Given the description of an element on the screen output the (x, y) to click on. 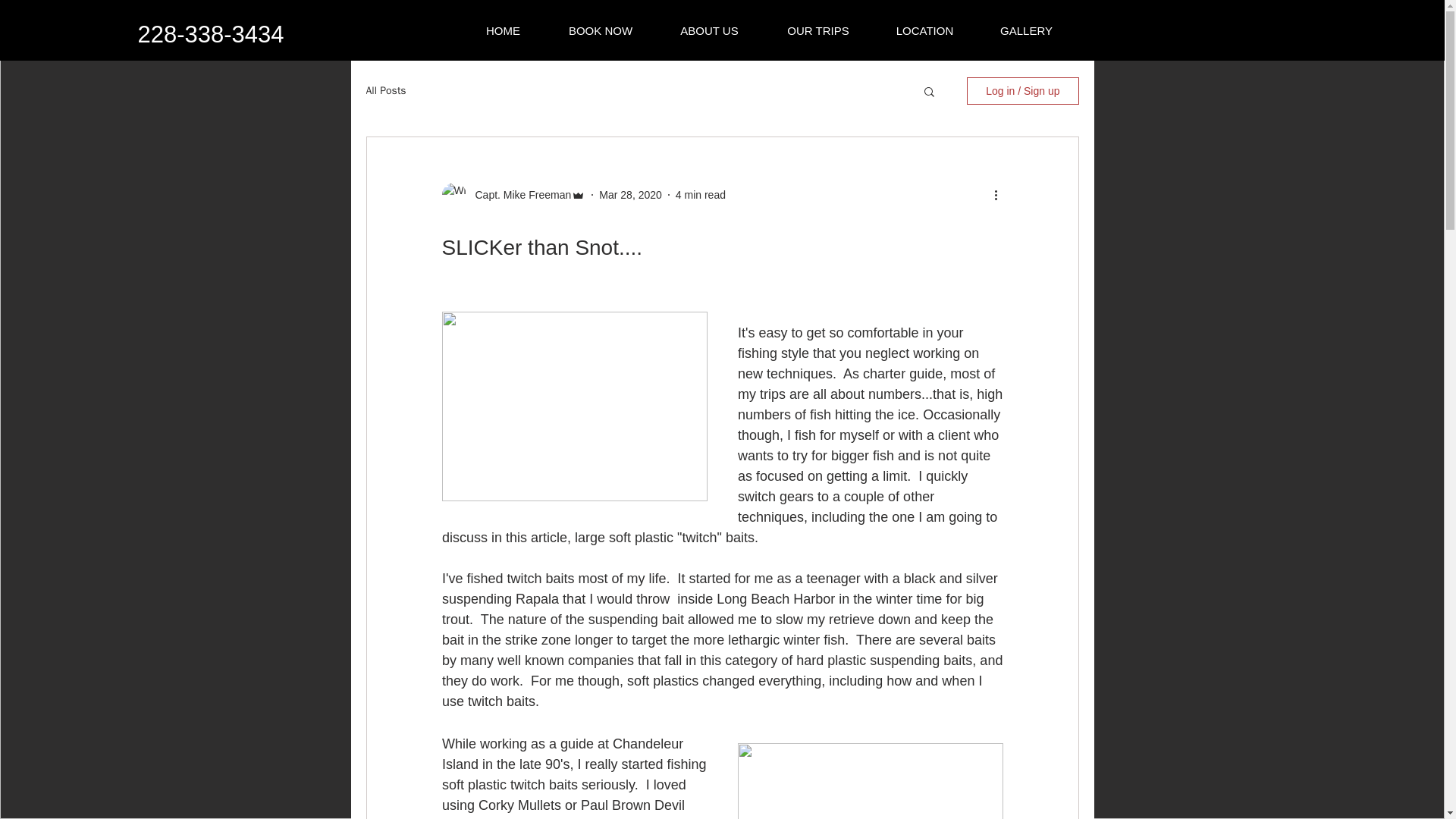
LOCATION (924, 31)
Mar 28, 2020 (630, 193)
ABOUT US (708, 31)
HOME (503, 31)
GALLERY (1026, 31)
All Posts (385, 90)
Capt. Mike Freeman (517, 194)
BOOK NOW (601, 31)
4 min read (700, 193)
OUR TRIPS (817, 31)
